Given the description of an element on the screen output the (x, y) to click on. 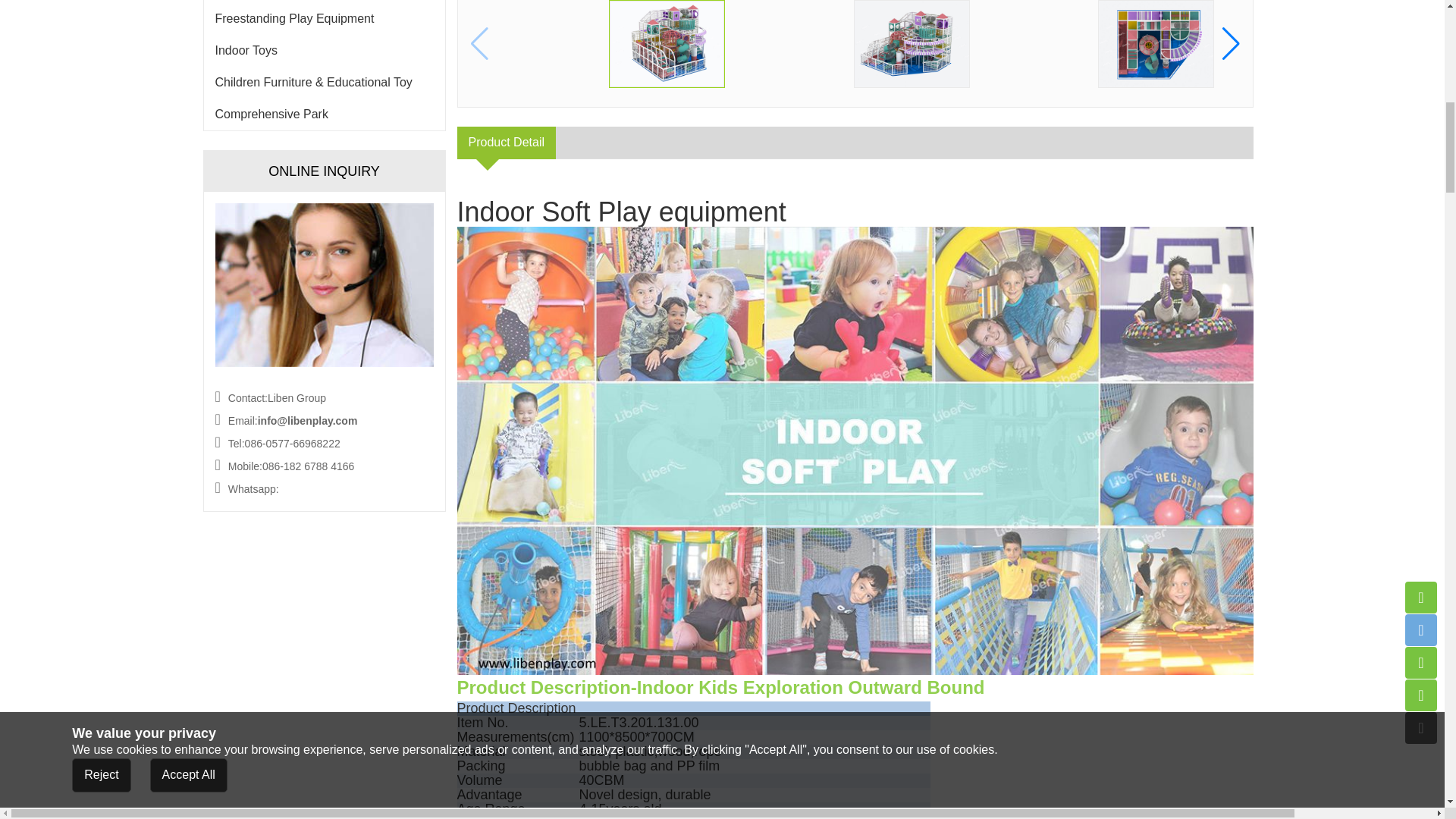
Fitness Equipment (324, 1)
Indoor Toys (324, 50)
Freestanding Play Equipment (324, 19)
Comprehensive Park (324, 114)
Fitness Equipment (324, 1)
